Given the description of an element on the screen output the (x, y) to click on. 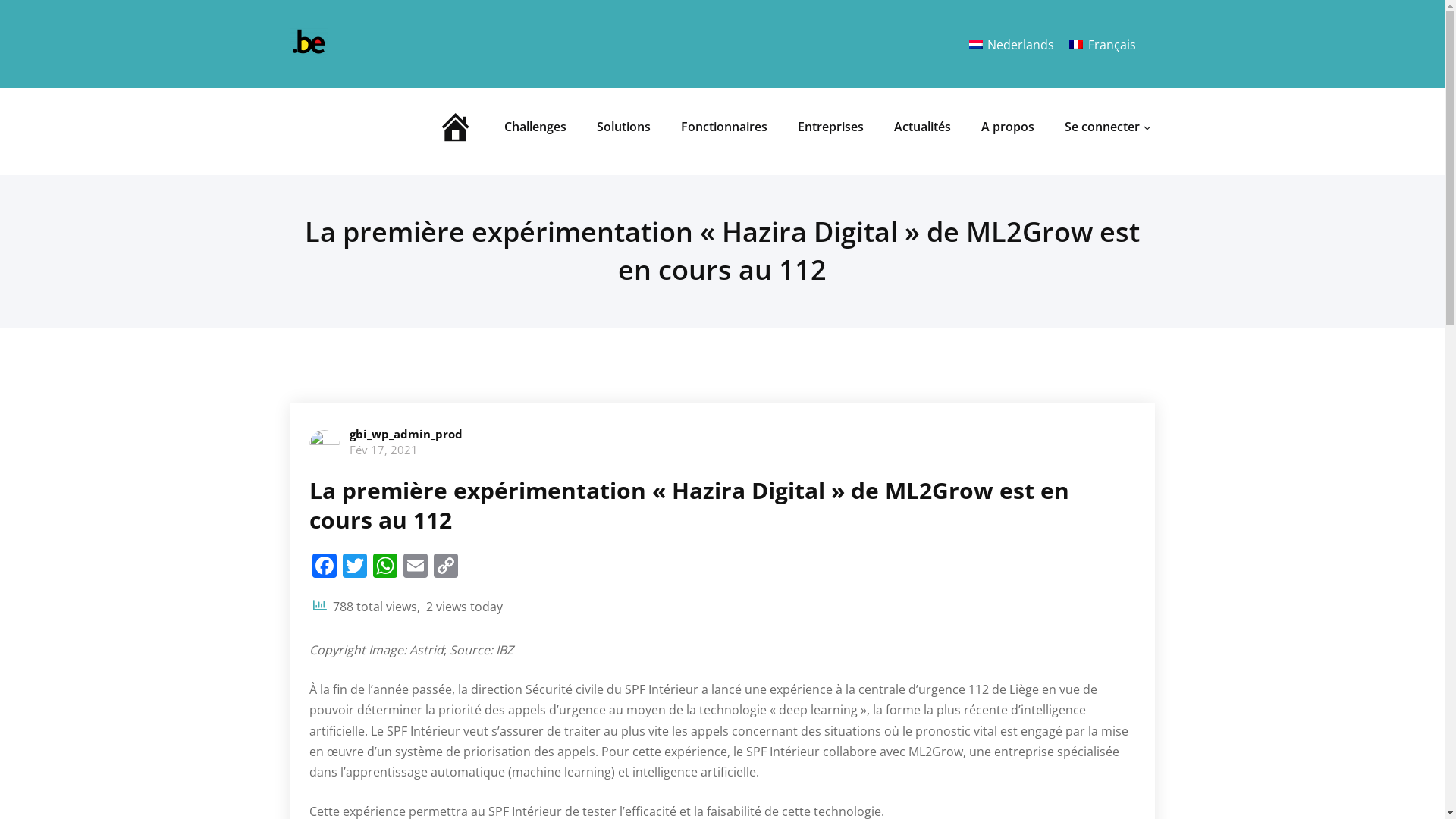
Se connecter Element type: text (1101, 126)
Email Element type: text (415, 566)
Fonctionnaires Element type: text (723, 126)
Copy Link Element type: text (445, 566)
Challenges Element type: text (534, 126)
Solutions Element type: text (623, 126)
Entreprises Element type: text (829, 126)
WhatsApp Element type: text (385, 566)
Facebook Element type: text (324, 566)
Twitter Element type: text (354, 566)
Accueil Element type: text (455, 131)
Nederlands Element type: text (1011, 43)
gbi_wp_admin_prod Element type: text (404, 433)
A propos Element type: text (1006, 126)
